Given the description of an element on the screen output the (x, y) to click on. 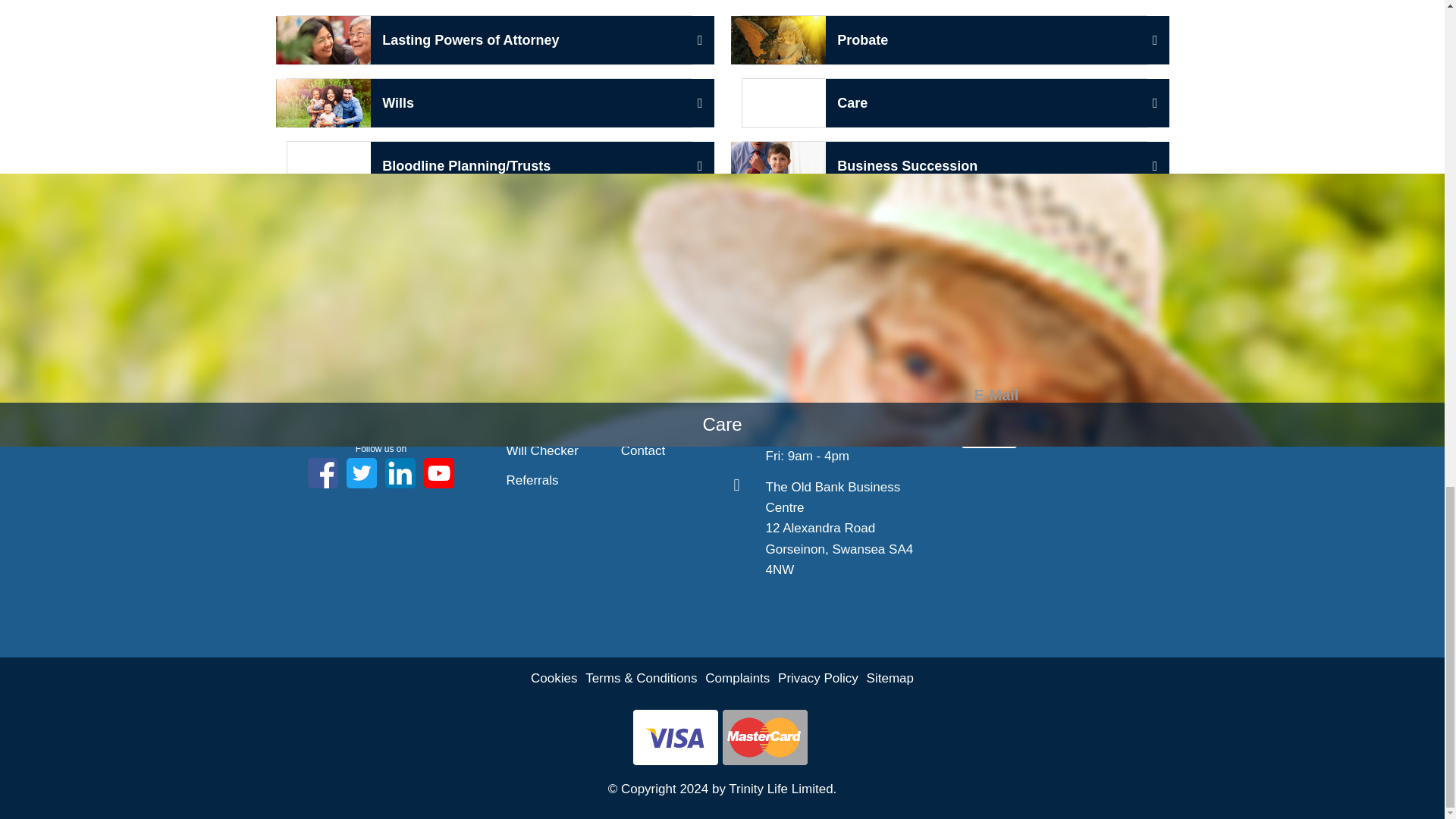
About (523, 390)
Services (531, 421)
Lasting Powers of Attorney (381, 374)
Wills (489, 40)
LinkedIn (489, 102)
Home (399, 472)
Care (523, 361)
Business Succession (944, 102)
Twitter (944, 165)
Probate (361, 472)
YouTube (944, 40)
